Given the description of an element on the screen output the (x, y) to click on. 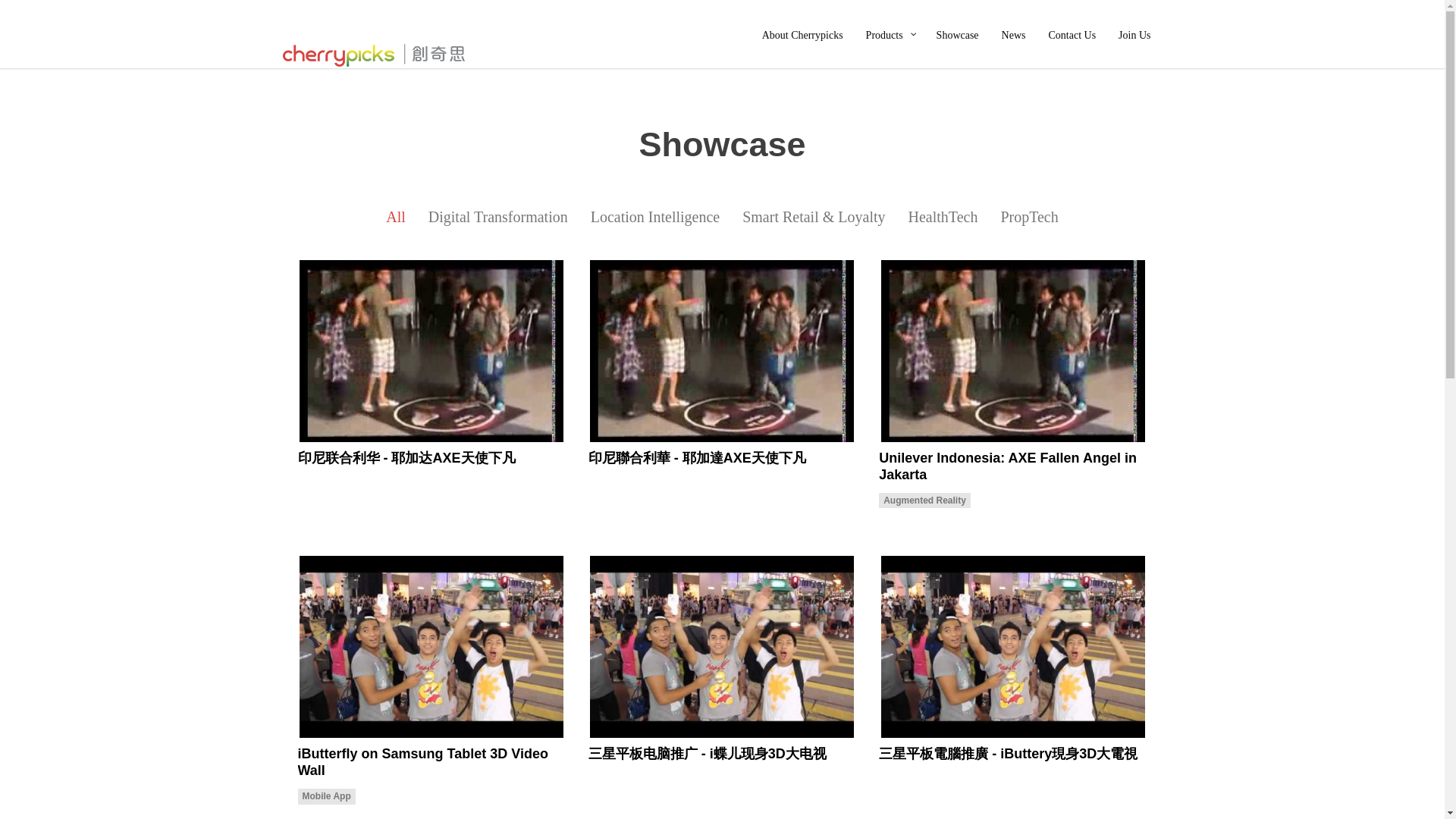
About Cherrypicks (802, 33)
Showcase (957, 33)
Products (889, 33)
Contact Us (1071, 33)
